Given the description of an element on the screen output the (x, y) to click on. 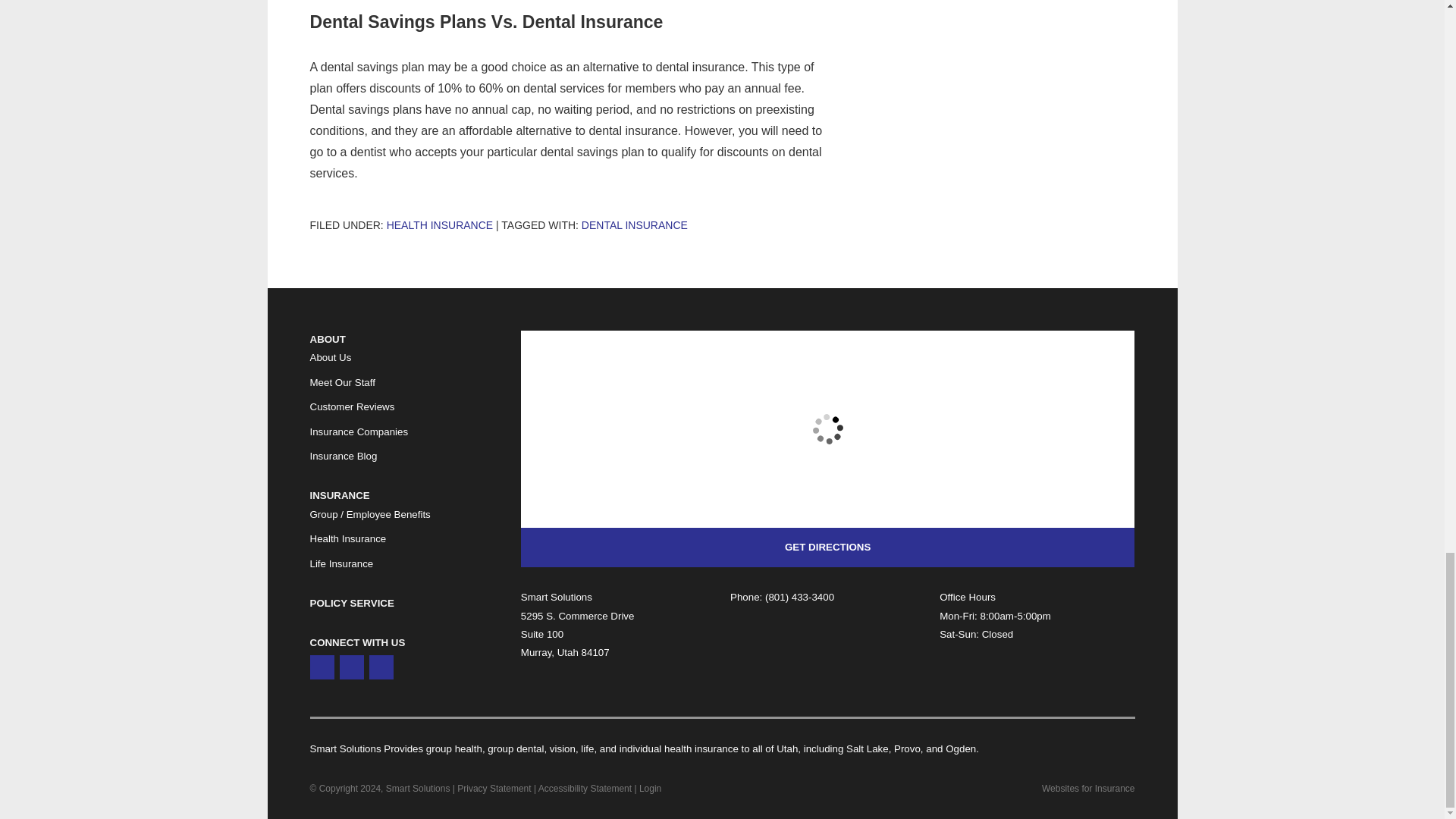
About Us (329, 357)
Facebook (380, 667)
Meet Our Staff (341, 382)
HEALTH INSURANCE (440, 224)
DENTAL INSURANCE (633, 224)
Yelp (351, 667)
Health Insurance (440, 224)
Dental Insurance (633, 224)
Google Maps (320, 667)
